Given the description of an element on the screen output the (x, y) to click on. 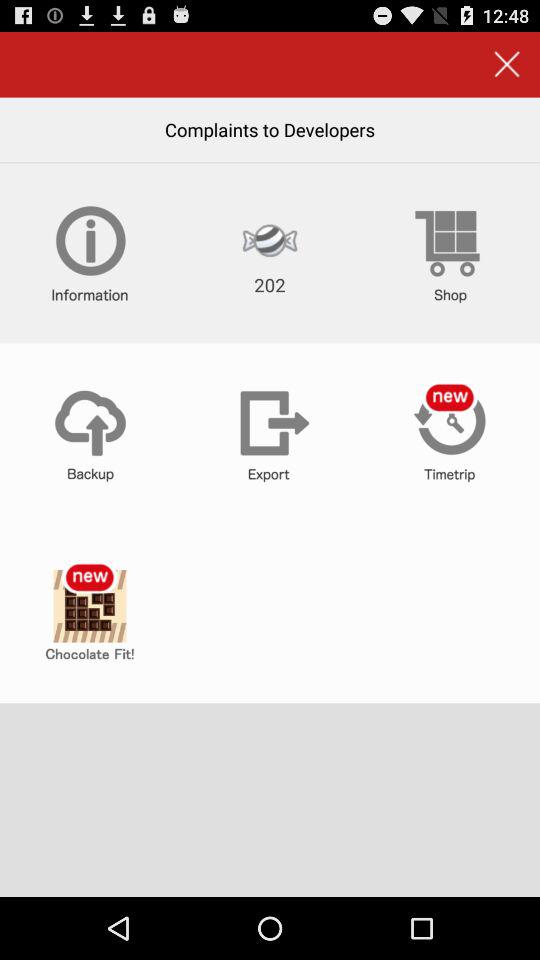
backup data (90, 433)
